Given the description of an element on the screen output the (x, y) to click on. 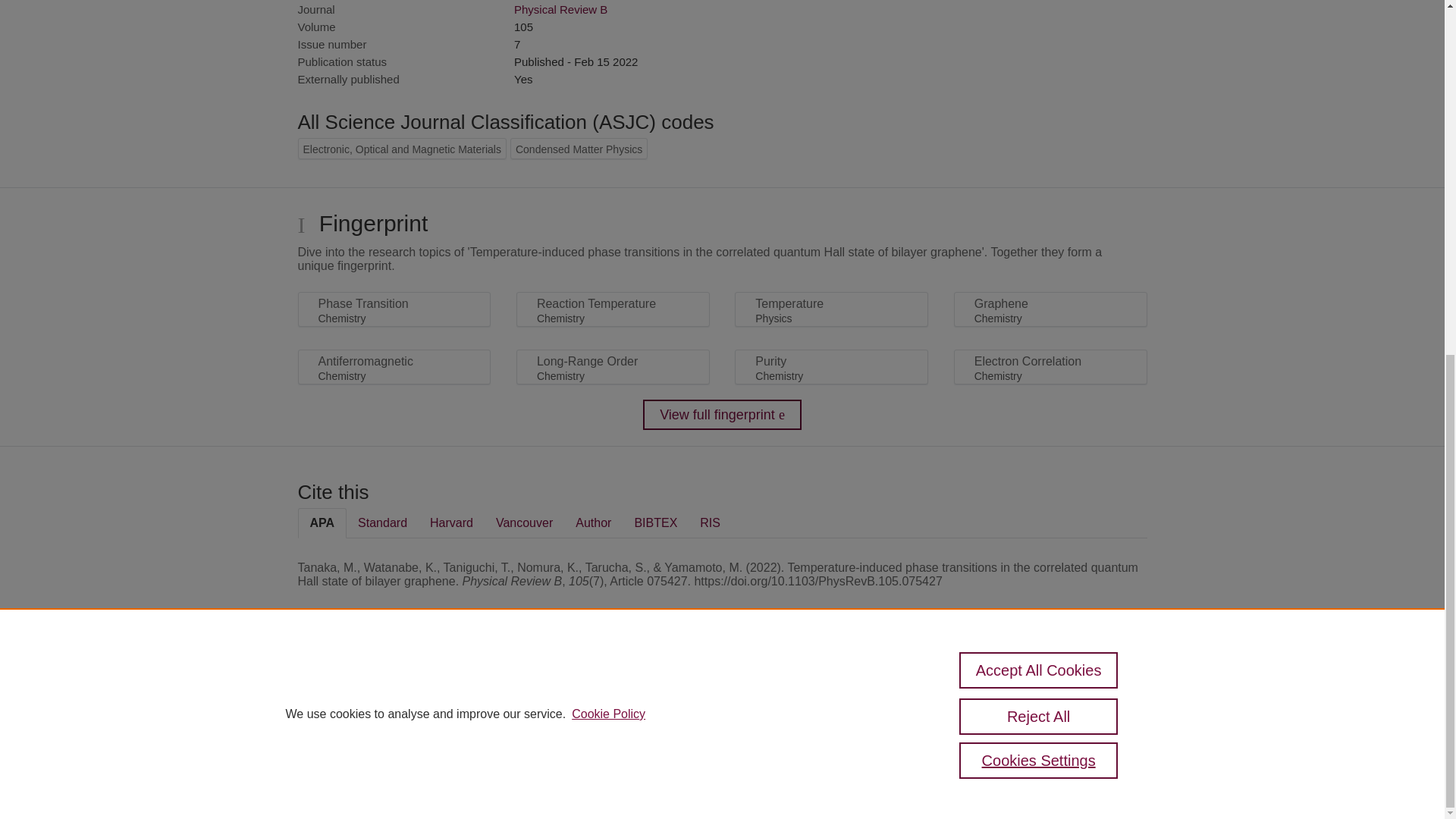
Physical Review B (560, 9)
Elsevier B.V. (506, 707)
View full fingerprint (722, 414)
Scopus (394, 686)
Pure (362, 686)
